Given the description of an element on the screen output the (x, y) to click on. 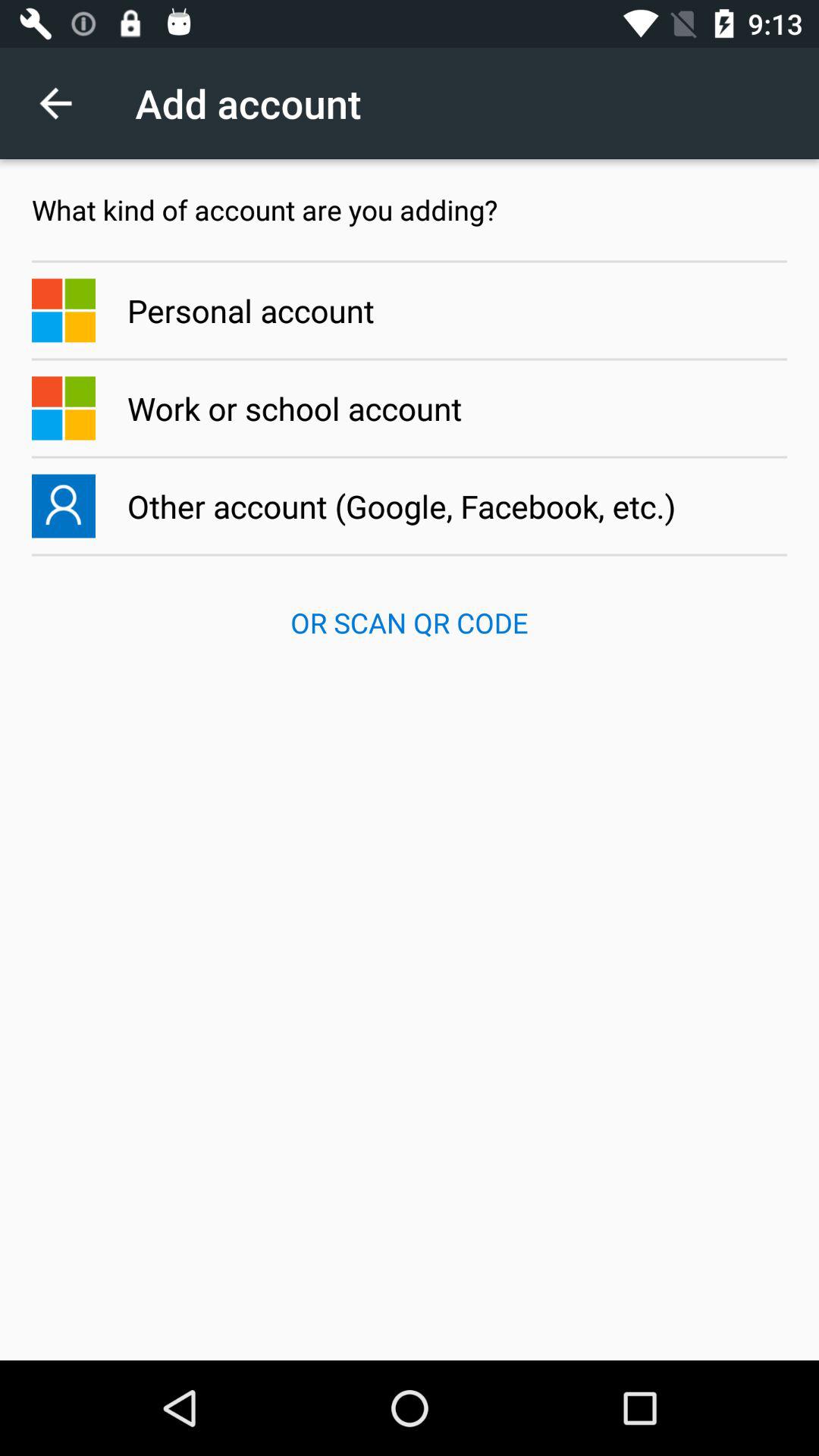
scroll to other account google item (409, 505)
